Given the description of an element on the screen output the (x, y) to click on. 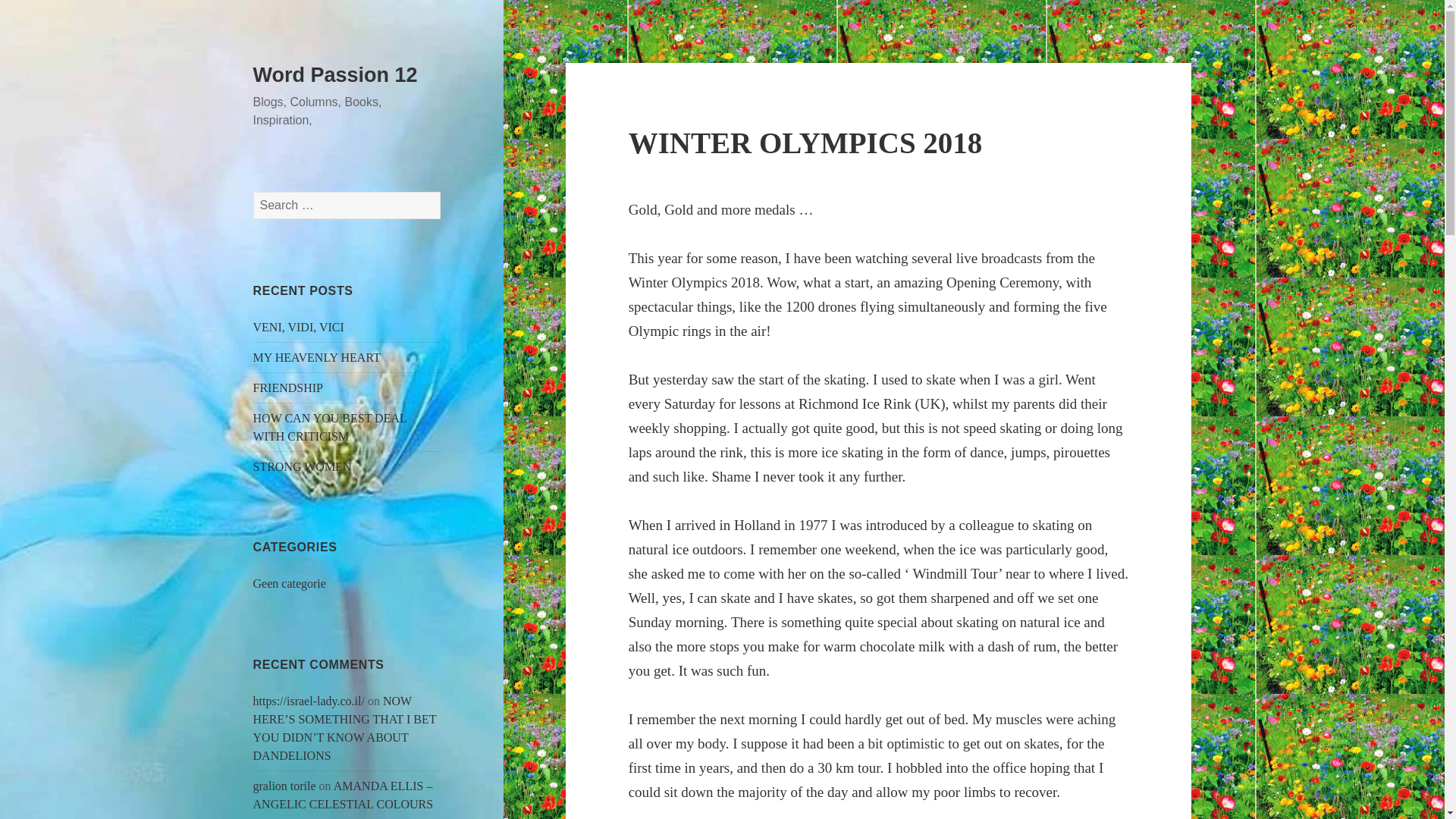
FRIENDSHIP (288, 387)
Word Passion 12 (335, 74)
HOW CAN YOU BEST DEAL WITH CRITICISM (330, 427)
VENI, VIDI, VICI (298, 327)
gralion torile (284, 785)
MY HEAVENLY HEART (316, 357)
Geen categorie (289, 583)
